Given the description of an element on the screen output the (x, y) to click on. 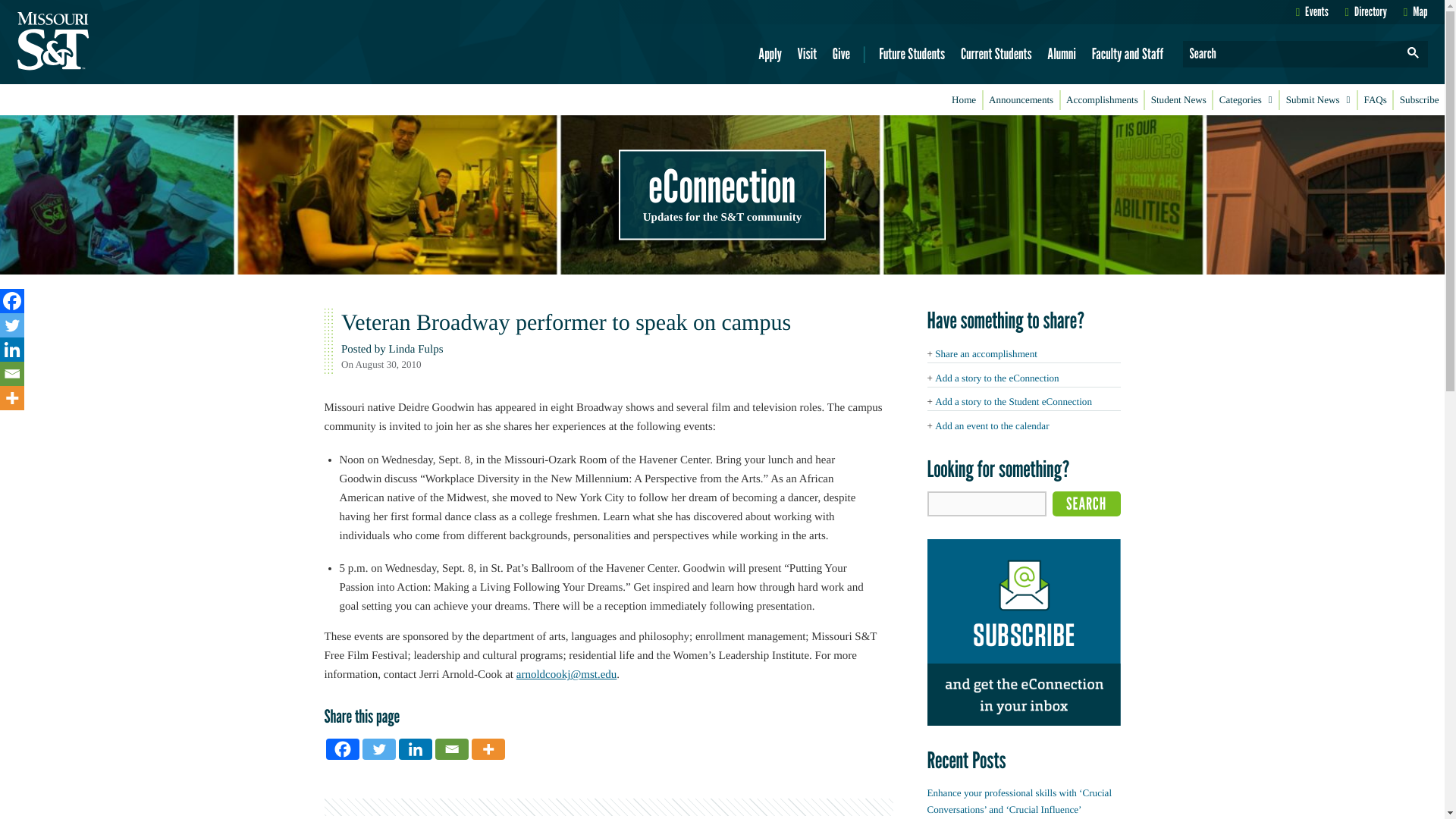
Posts by Linda Fulps (416, 349)
Events (1311, 11)
Future Students (911, 53)
Facebook (342, 749)
Faculty and Staff (1127, 53)
Search (1086, 503)
Student News (1177, 99)
Home (963, 99)
Twitter (379, 749)
Map (1415, 11)
